Given the description of an element on the screen output the (x, y) to click on. 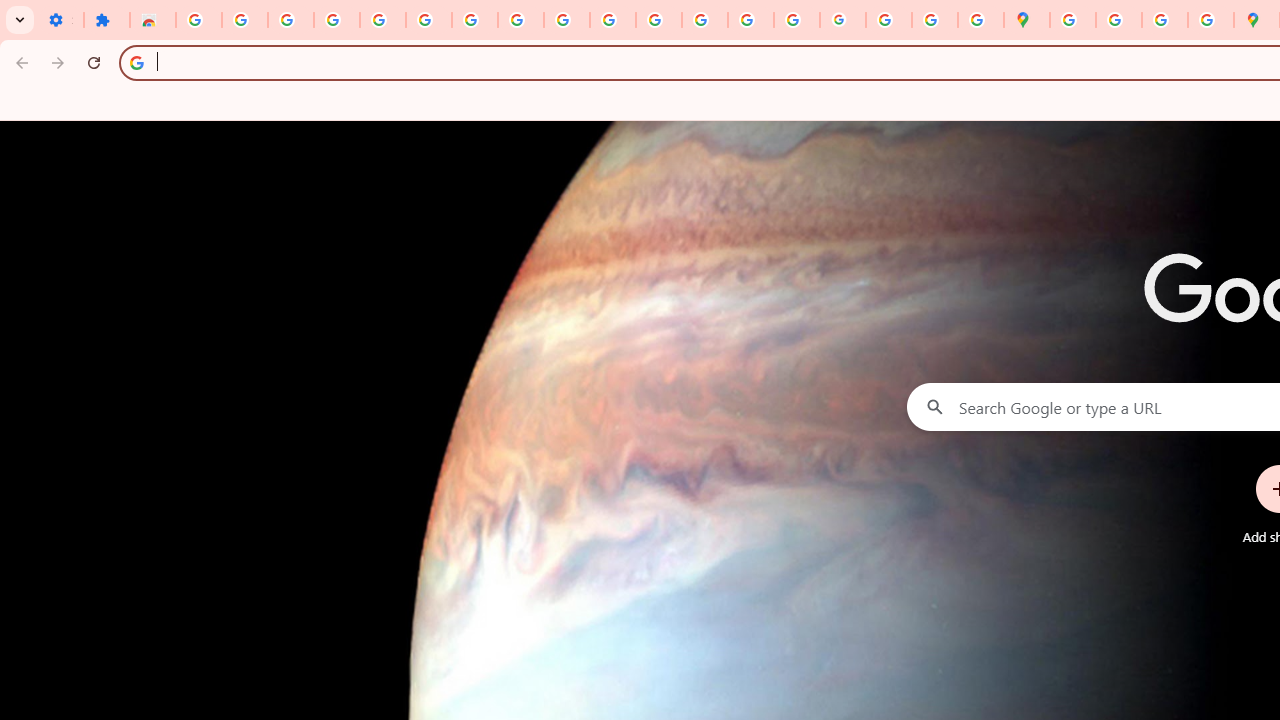
Sign in - Google Accounts (198, 20)
YouTube (567, 20)
Delete photos & videos - Computer - Google Photos Help (290, 20)
Safety in Our Products - Google Safety Center (1210, 20)
Settings - On startup (60, 20)
Reviews: Helix Fruit Jump Arcade Game (153, 20)
